Given the description of an element on the screen output the (x, y) to click on. 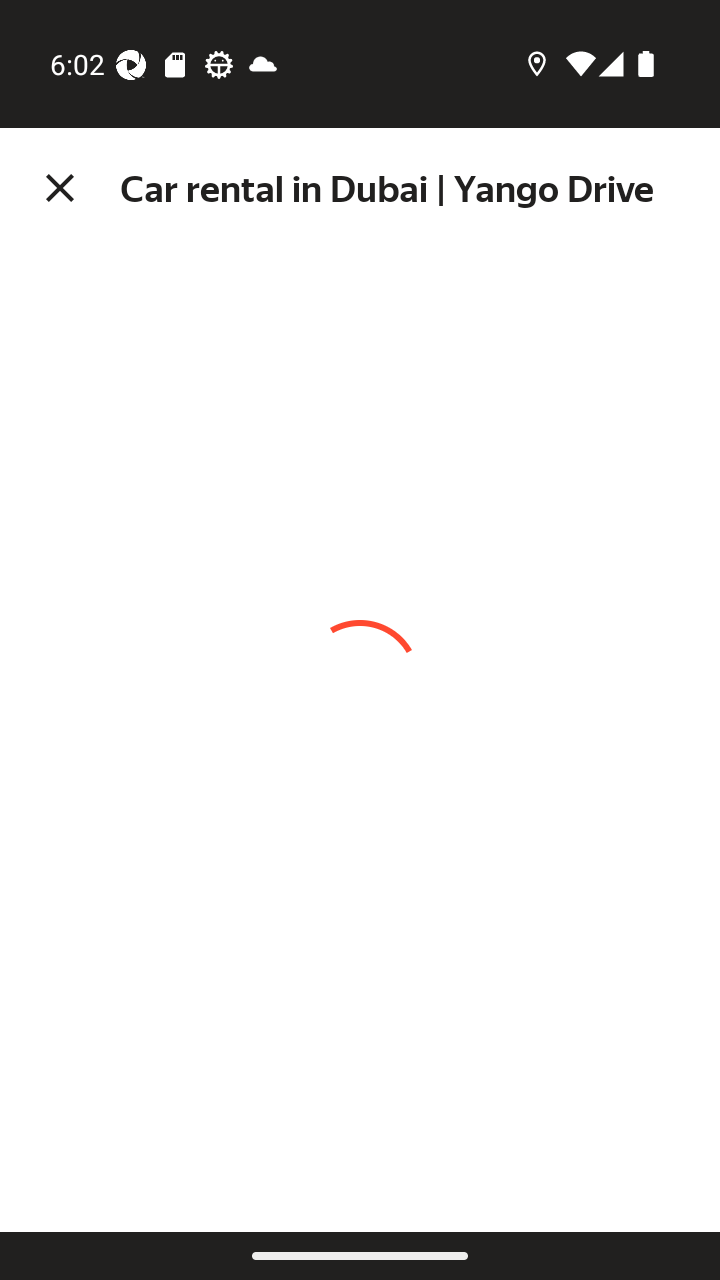
Close Car rental in Dubai | Yango Drive (360, 188)
Close (60, 188)
